Given the description of an element on the screen output the (x, y) to click on. 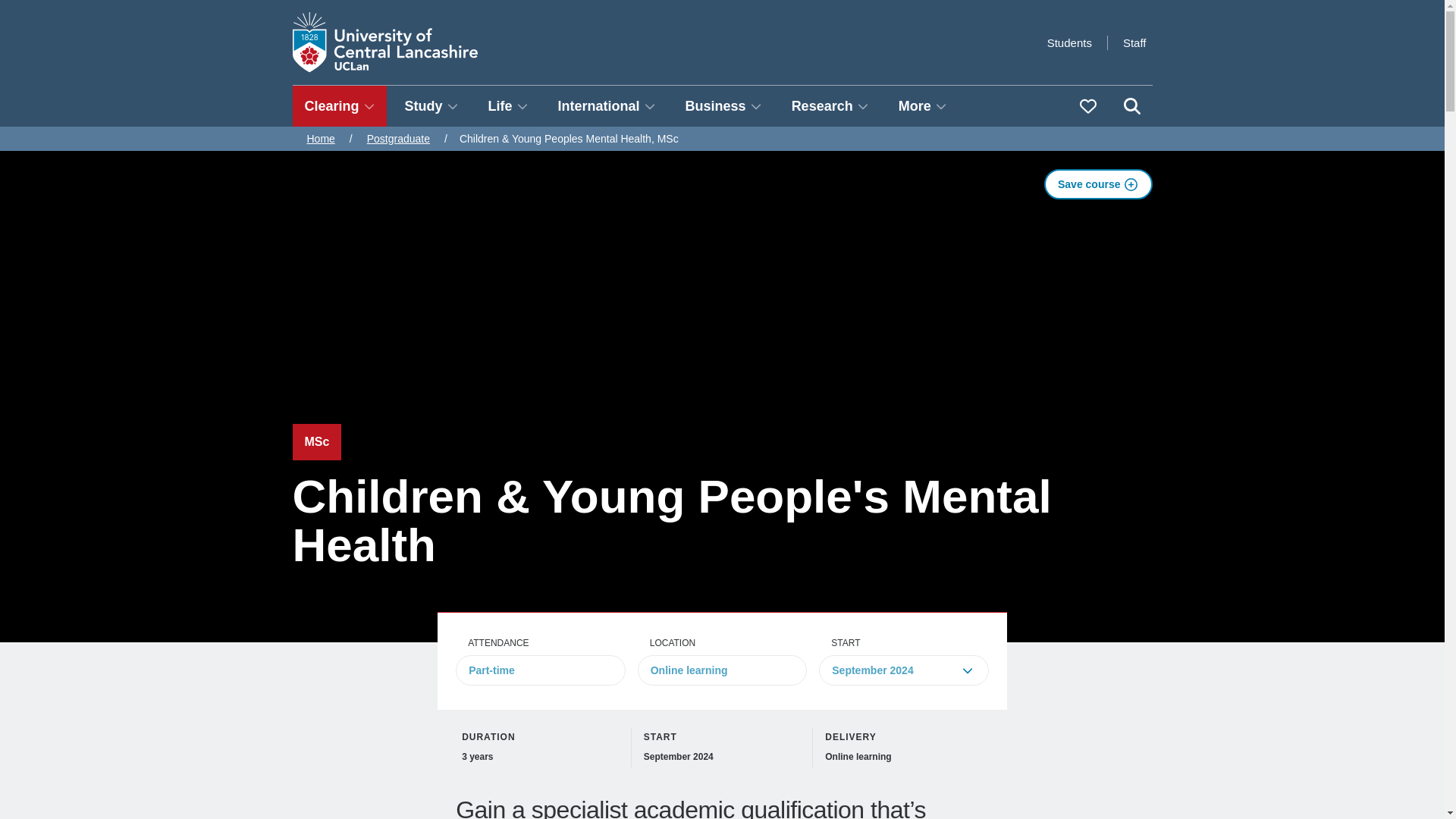
Study (431, 105)
Life (508, 105)
Staff (1134, 42)
Clearing (339, 105)
Students (1069, 42)
